Given the description of an element on the screen output the (x, y) to click on. 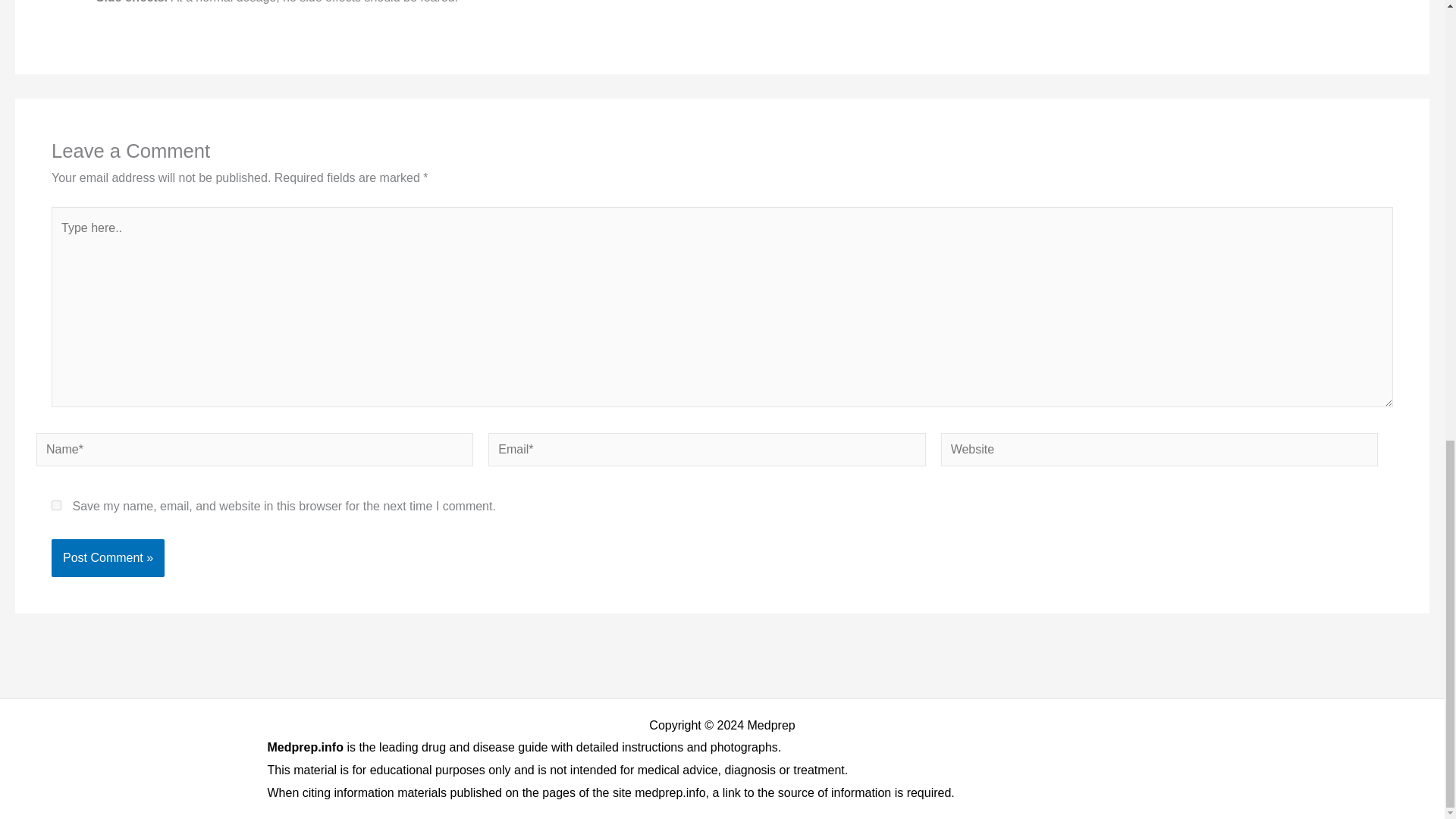
yes (55, 505)
